Given the description of an element on the screen output the (x, y) to click on. 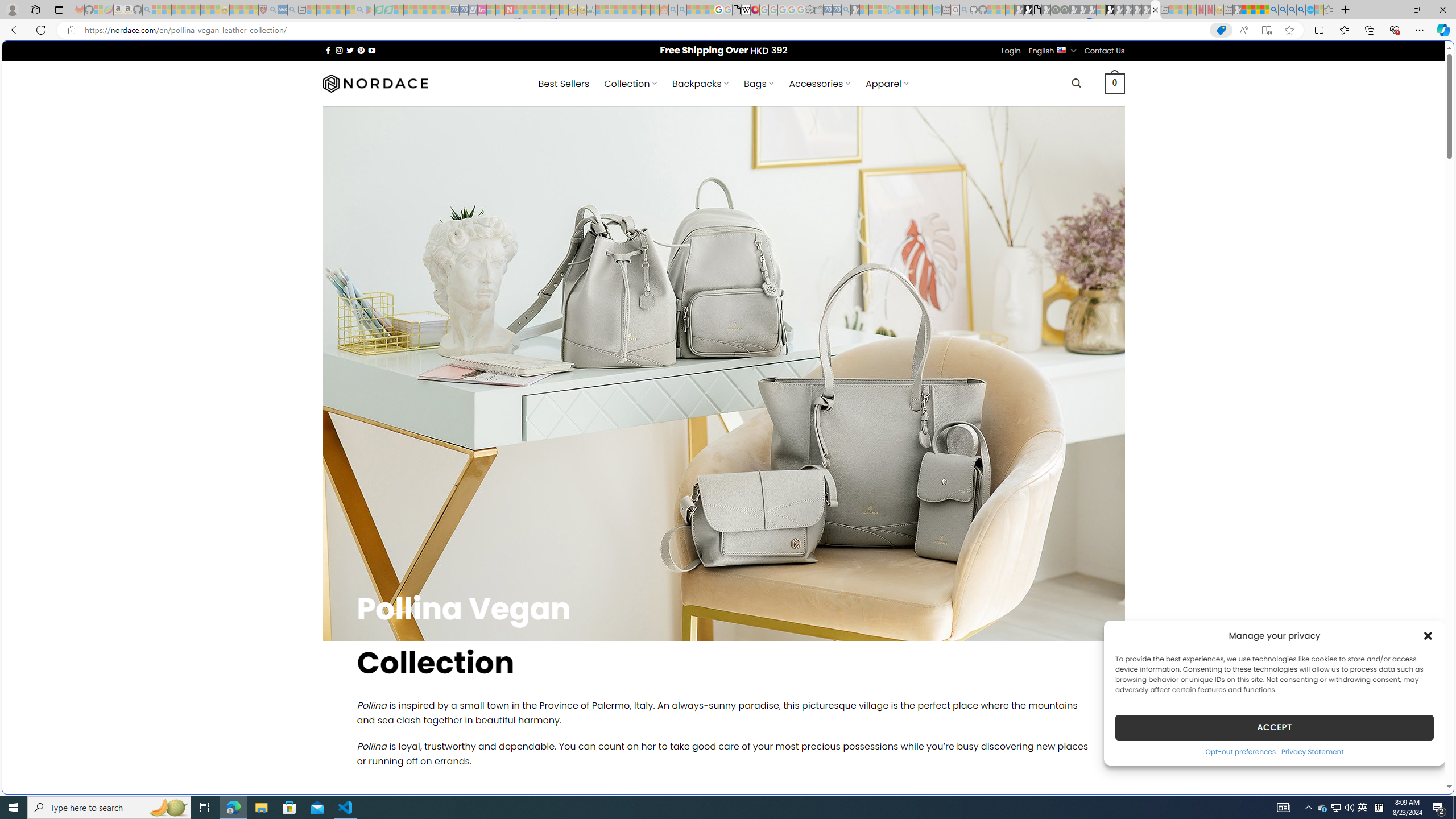
Latest Politics News & Archive | Newsweek.com - Sleeping (508, 9)
Expert Portfolios - Sleeping (627, 9)
Class: cmplz-close (1428, 635)
  0   (1115, 83)
Home | Sky Blue Bikes - Sky Blue Bikes - Sleeping (936, 9)
